Given the description of an element on the screen output the (x, y) to click on. 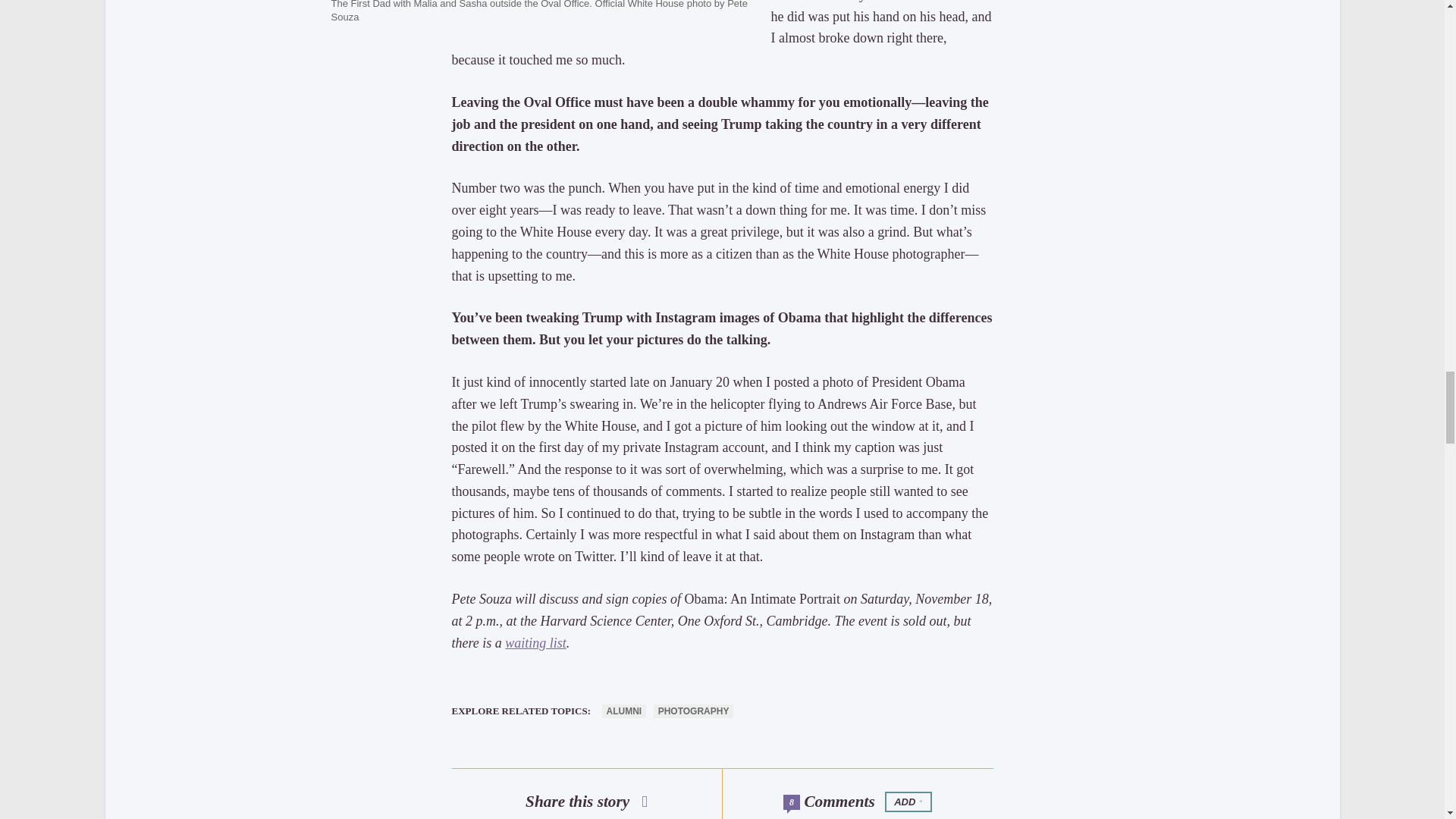
PHOTOGRAPHY (693, 711)
ADD (908, 801)
8 (791, 801)
ALUMNI (624, 711)
waiting list (535, 642)
